Given the description of an element on the screen output the (x, y) to click on. 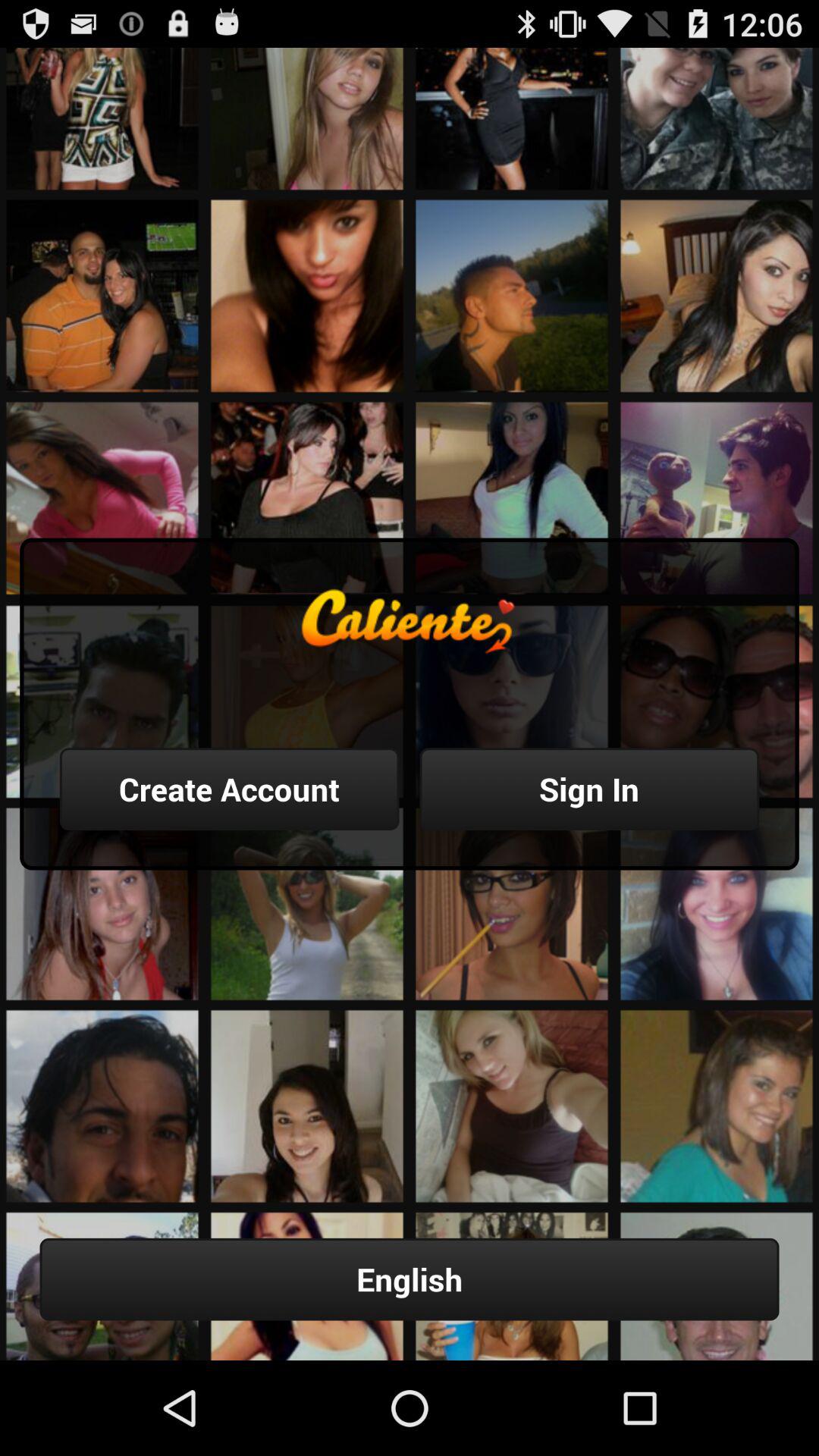
select button next to the sign in item (229, 788)
